Given the description of an element on the screen output the (x, y) to click on. 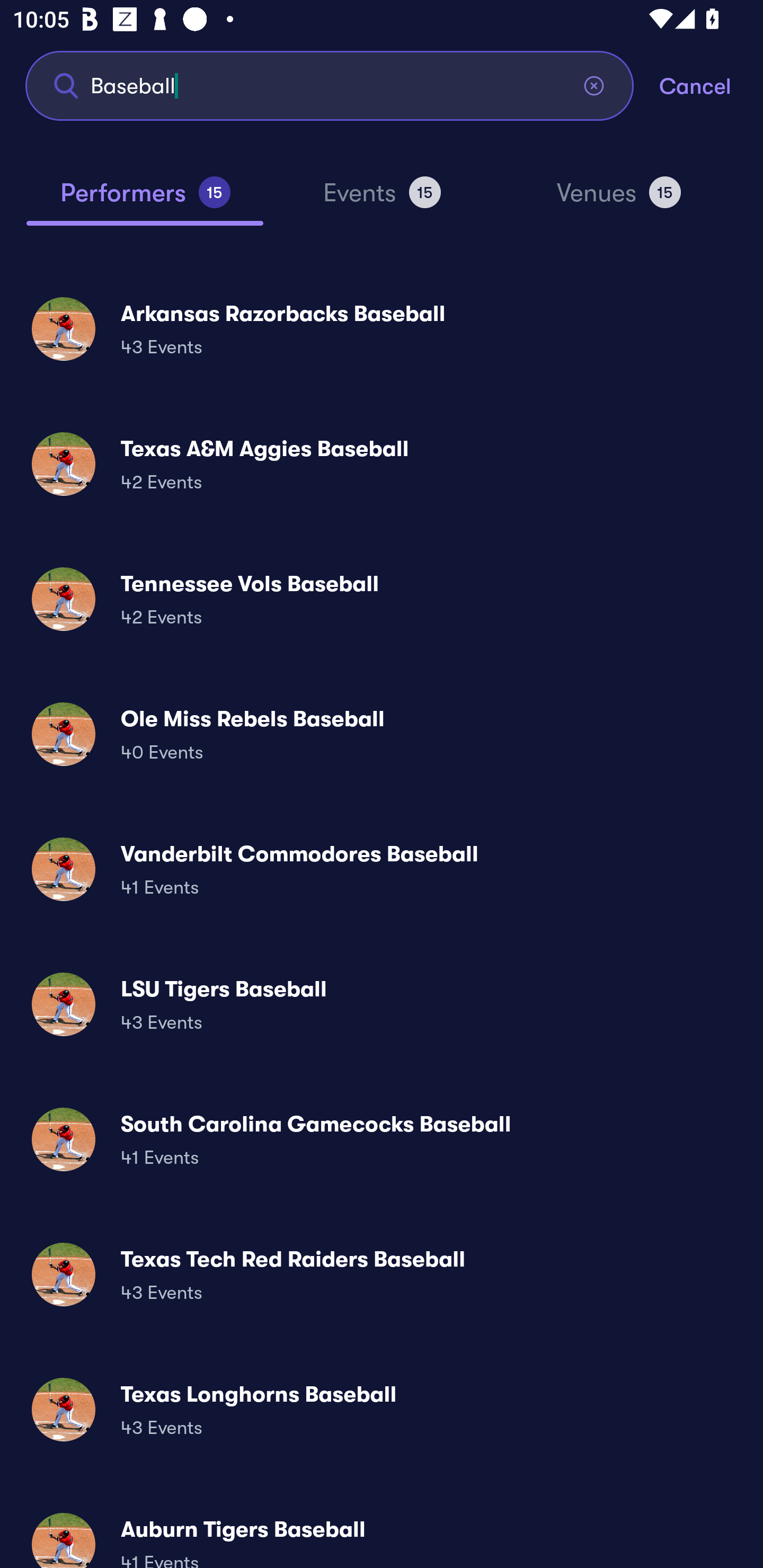
Cancel (711, 85)
Baseball Find (329, 85)
Baseball Find (329, 85)
Performers 15 (144, 200)
Events 15 (381, 200)
Venues 15 (618, 200)
Arkansas Razorbacks Baseball 43 Events (381, 328)
Texas A&M Aggies Baseball 42 Events (381, 464)
Tennessee Vols Baseball 42 Events (381, 598)
Ole Miss Rebels Baseball 40 Events (381, 734)
Vanderbilt Commodores Baseball 41 Events (381, 869)
LSU Tigers Baseball 43 Events (381, 1004)
South Carolina Gamecocks Baseball 41 Events (381, 1138)
Texas Tech Red Raiders Baseball 43 Events (381, 1273)
Texas Longhorns Baseball 43 Events (381, 1409)
Auburn Tigers Baseball 41 Events (381, 1532)
